Given the description of an element on the screen output the (x, y) to click on. 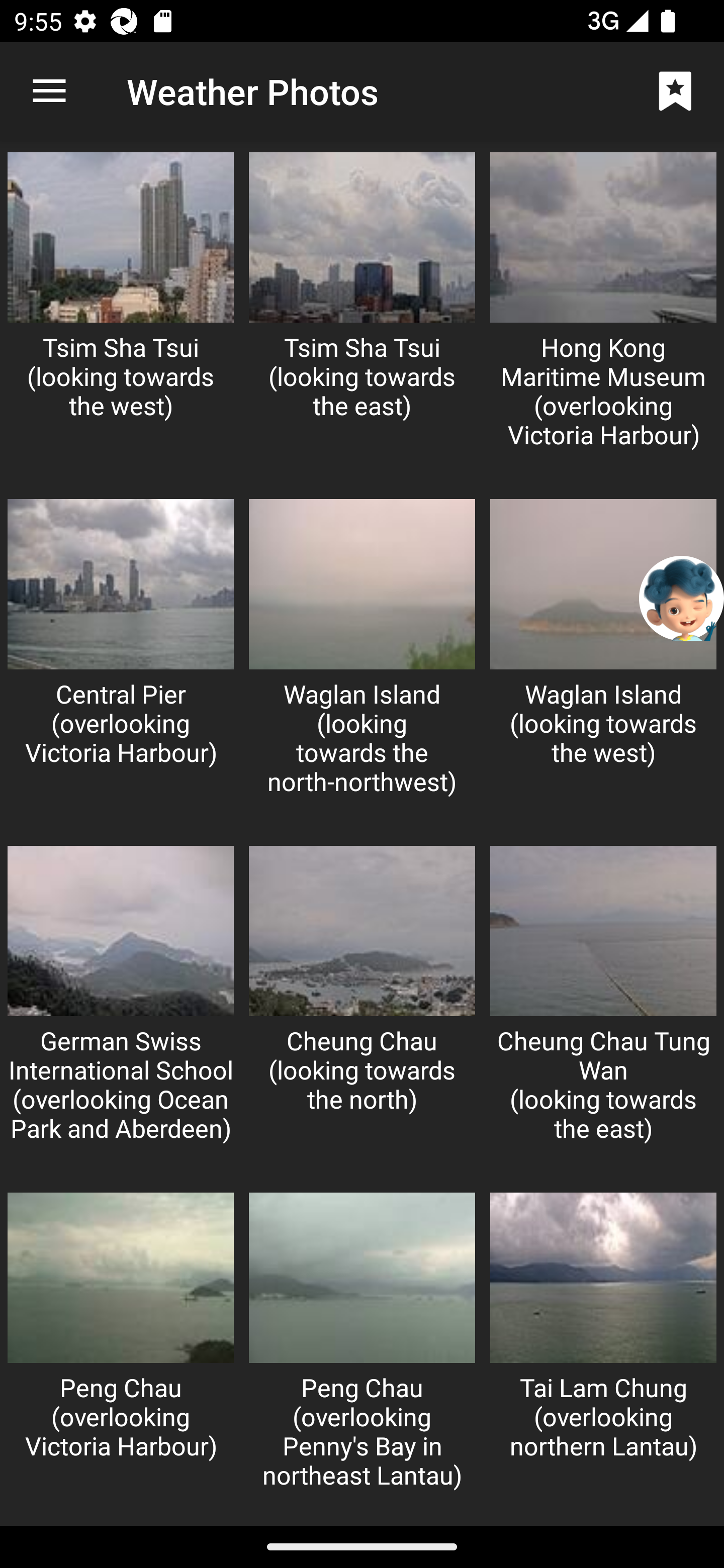
Navigate up (49, 91)
Bookmark added (674, 90)
Tsim Sha Tsui
(looking towards the west) (120, 315)
Tsim Sha Tsui
(looking towards the east) (361, 315)
Central Pier
(overlooking Victoria Harbour) (120, 662)
Waglan Island
(looking towards the west) (603, 662)
Chatbot (681, 598)
Cheung Chau
(looking towards the north) (361, 1009)
Cheung Chau Tung Wan
(looking towards the east) (603, 1009)
Peng Chau
(overlooking Victoria Harbour) (120, 1355)
Tai Lam Chung
(overlooking northern Lantau) (603, 1355)
